Given the description of an element on the screen output the (x, y) to click on. 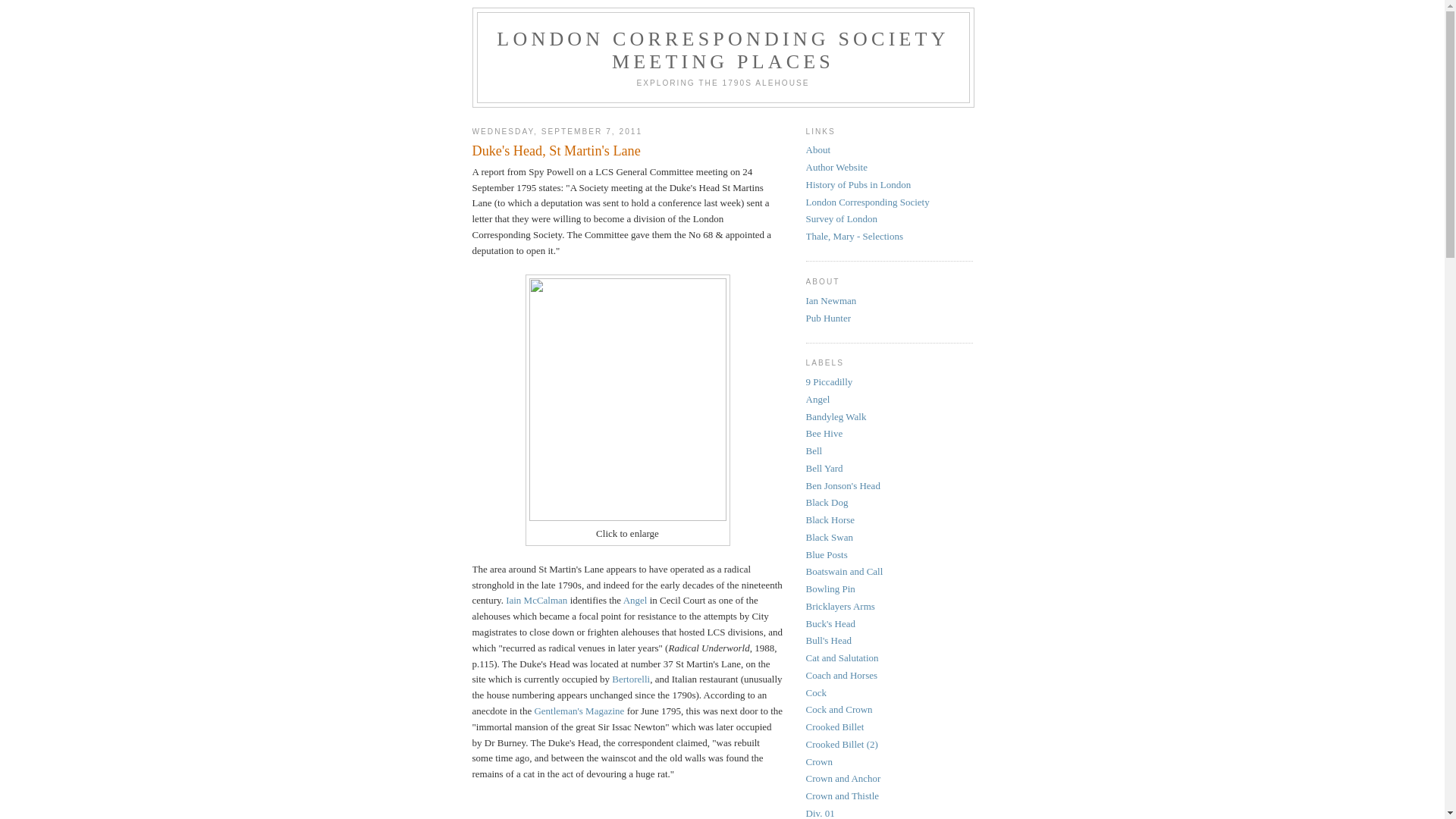
9 Piccadilly Element type: text (828, 381)
Blue Posts Element type: text (826, 554)
Black Dog Element type: text (826, 502)
Pub Hunter Element type: text (827, 317)
Bell Element type: text (813, 450)
Crooked Billet (2) Element type: text (841, 743)
Bricklayers Arms Element type: text (839, 605)
LONDON CORRESPONDING SOCIETY MEETING PLACES Element type: text (722, 50)
Crooked Billet Element type: text (834, 726)
Author Website Element type: text (835, 166)
Coach and Horses Element type: text (841, 674)
Boatswain and Call Element type: text (843, 571)
Thale, Mary - Selections Element type: text (854, 235)
Black Swan Element type: text (828, 536)
Bowling Pin Element type: text (829, 588)
Angel Element type: text (817, 398)
Ben Jonson's Head Element type: text (842, 485)
Bee Hive Element type: text (823, 433)
London Corresponding Society Element type: text (866, 201)
Bandyleg Walk Element type: text (835, 416)
Buck's Head Element type: text (830, 623)
Cock Element type: text (815, 692)
Survey of London Element type: text (841, 218)
Crown Element type: text (818, 761)
Gentleman's Magazine Element type: text (578, 710)
History of Pubs in London Element type: text (857, 184)
Bull's Head Element type: text (827, 640)
Cock and Crown Element type: text (838, 709)
About Element type: text (817, 149)
Iain McCalman Element type: text (536, 599)
Bertorelli Element type: text (630, 678)
Ian Newman Element type: text (830, 300)
Crown and Thistle Element type: text (841, 795)
Angel Element type: text (635, 599)
Cat and Salutation Element type: text (841, 657)
Bell Yard Element type: text (823, 467)
Black Horse Element type: text (829, 519)
Crown and Anchor Element type: text (842, 778)
